Given the description of an element on the screen output the (x, y) to click on. 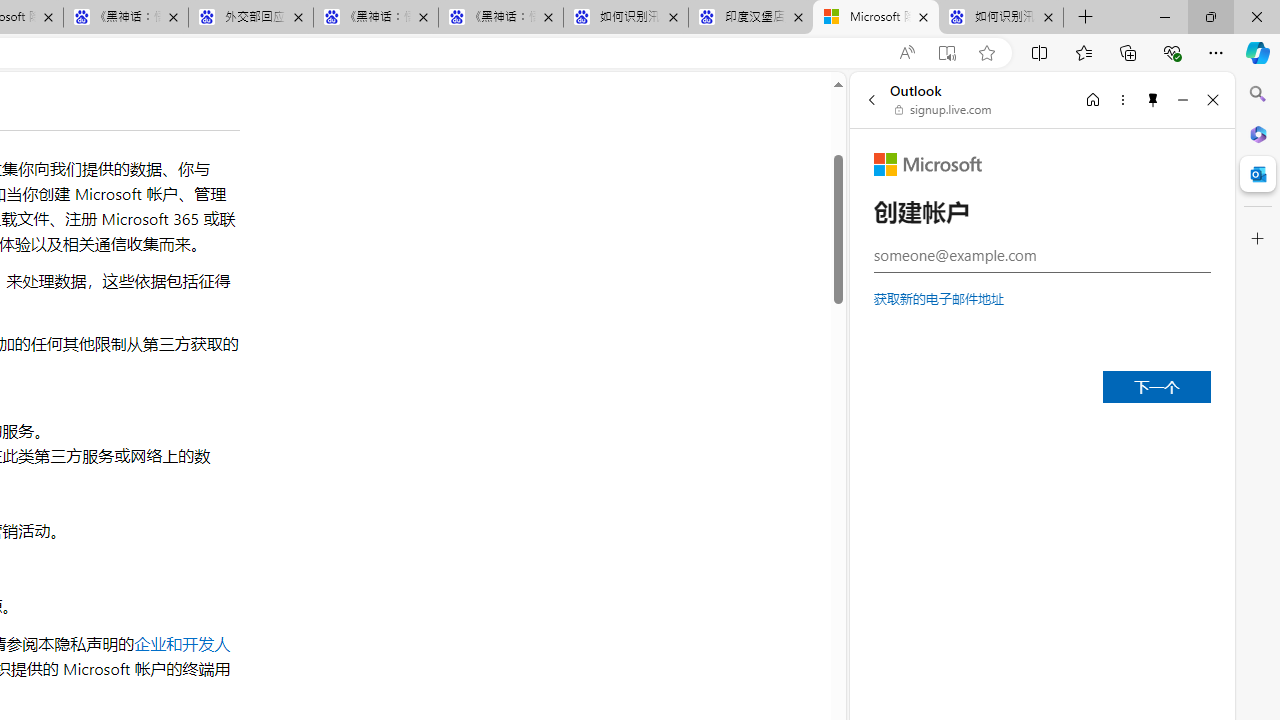
signup.live.com (943, 110)
Unpin side pane (1153, 99)
Enter Immersive Reader (F9) (946, 53)
